Given the description of an element on the screen output the (x, y) to click on. 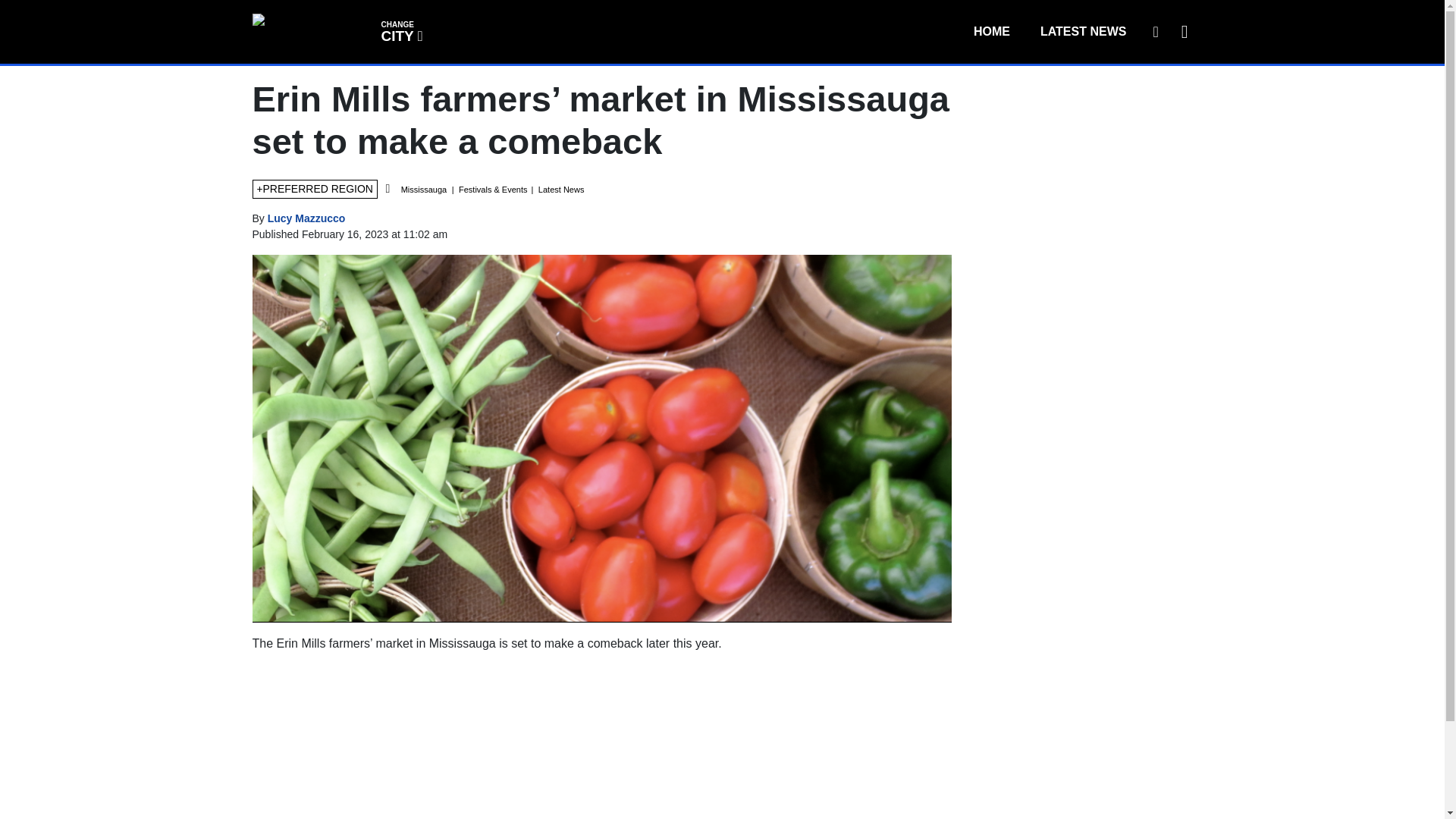
Posts by 820 (306, 218)
LATEST NEWS (1083, 31)
HOME (400, 30)
SIGN UP FOR OUR NEWSLETTER (991, 31)
